Given the description of an element on the screen output the (x, y) to click on. 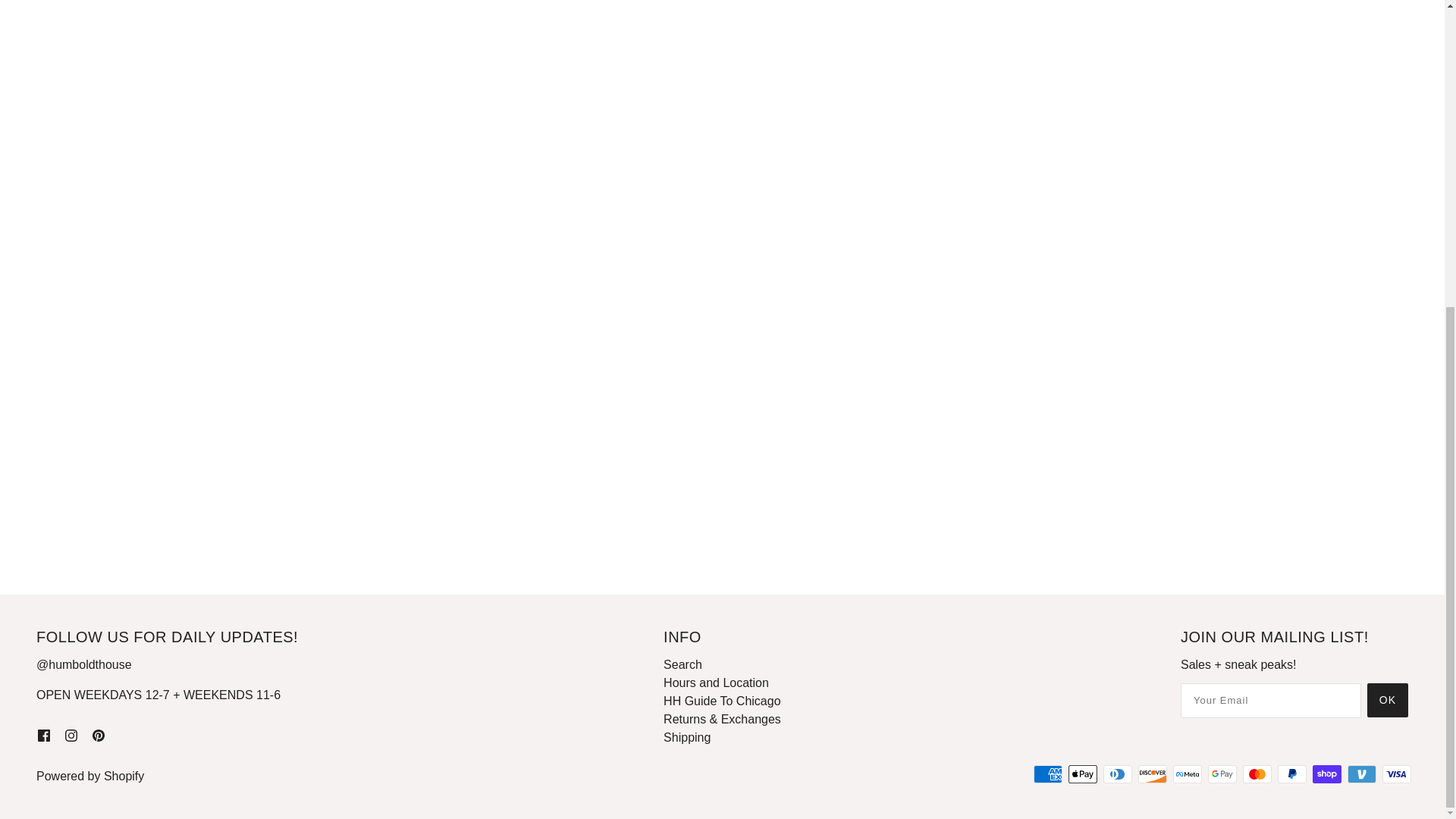
Meta Pay (1187, 773)
American Express (1047, 773)
Apple Pay (1082, 773)
HH Guide To Chicago (721, 700)
Search (682, 664)
Hours and Location (715, 682)
Shipping  (686, 737)
Discover (1152, 773)
Diners Club (1117, 773)
